Given the description of an element on the screen output the (x, y) to click on. 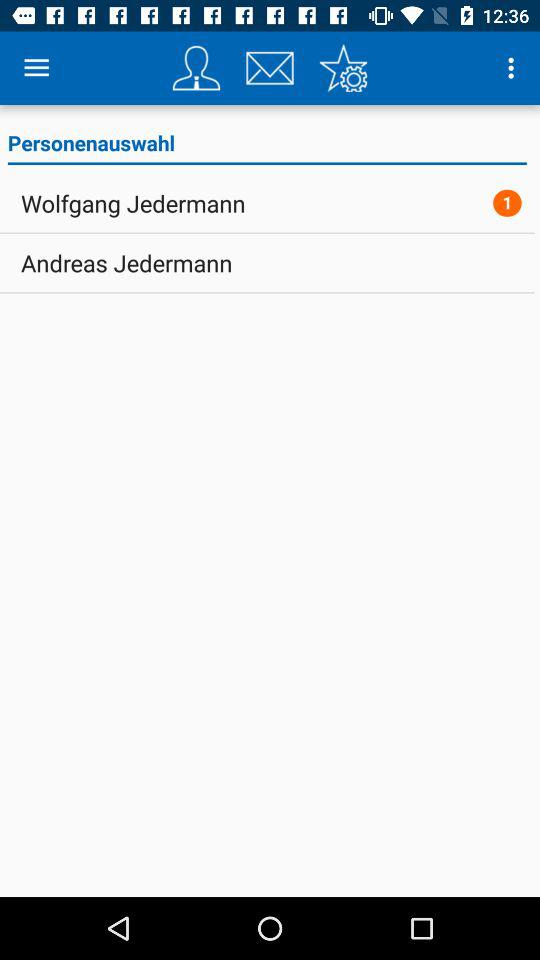
turn off the icon below the personenauswahl item (507, 202)
